Given the description of an element on the screen output the (x, y) to click on. 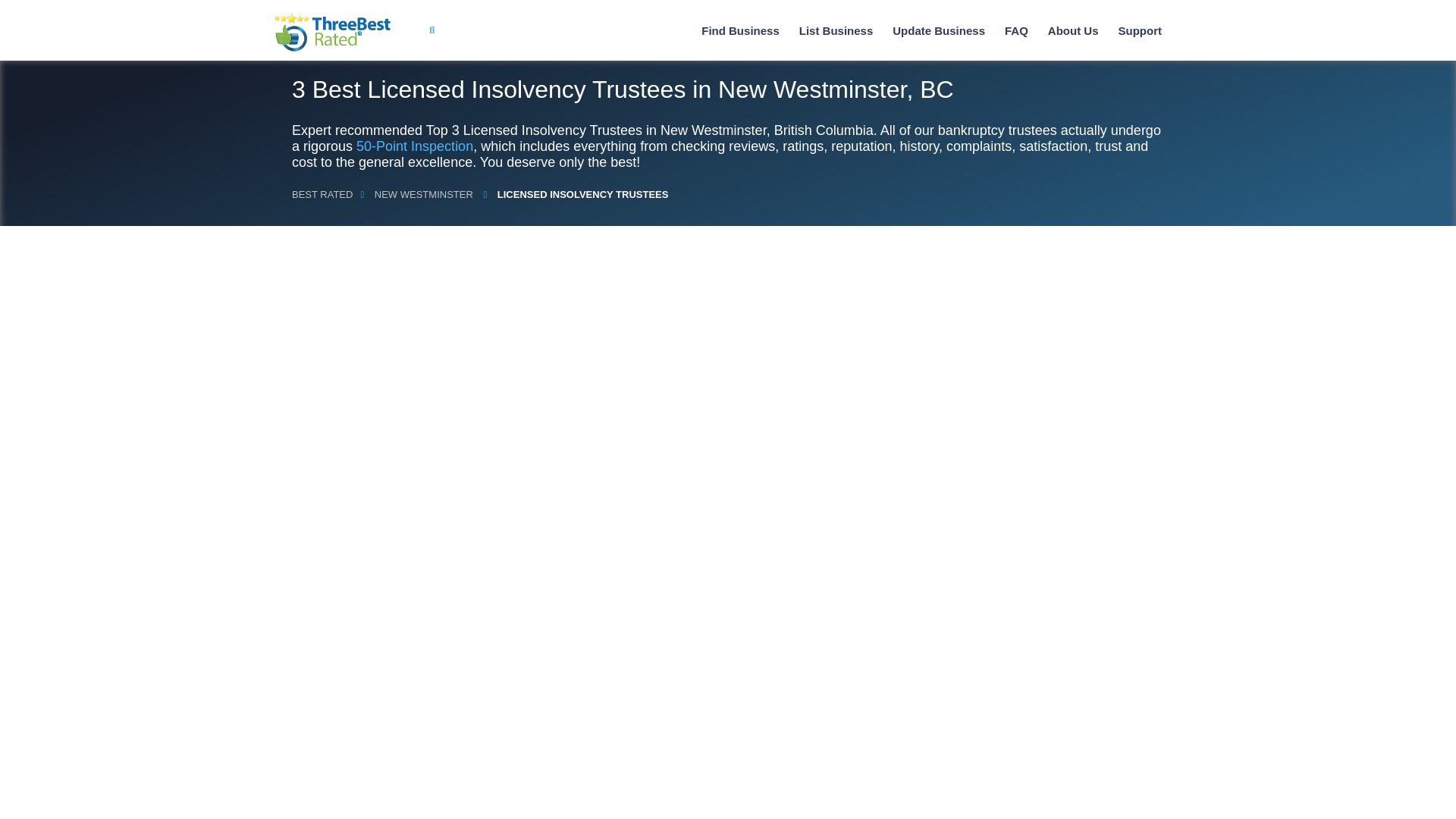
List Business (830, 30)
Find Business (734, 30)
50-Point Inspection (408, 145)
Support (1134, 30)
ThreeBestRated.ca (325, 32)
116 (359, 522)
NEW WESTMINSTER (417, 194)
BEST RATED (317, 194)
